Given the description of an element on the screen output the (x, y) to click on. 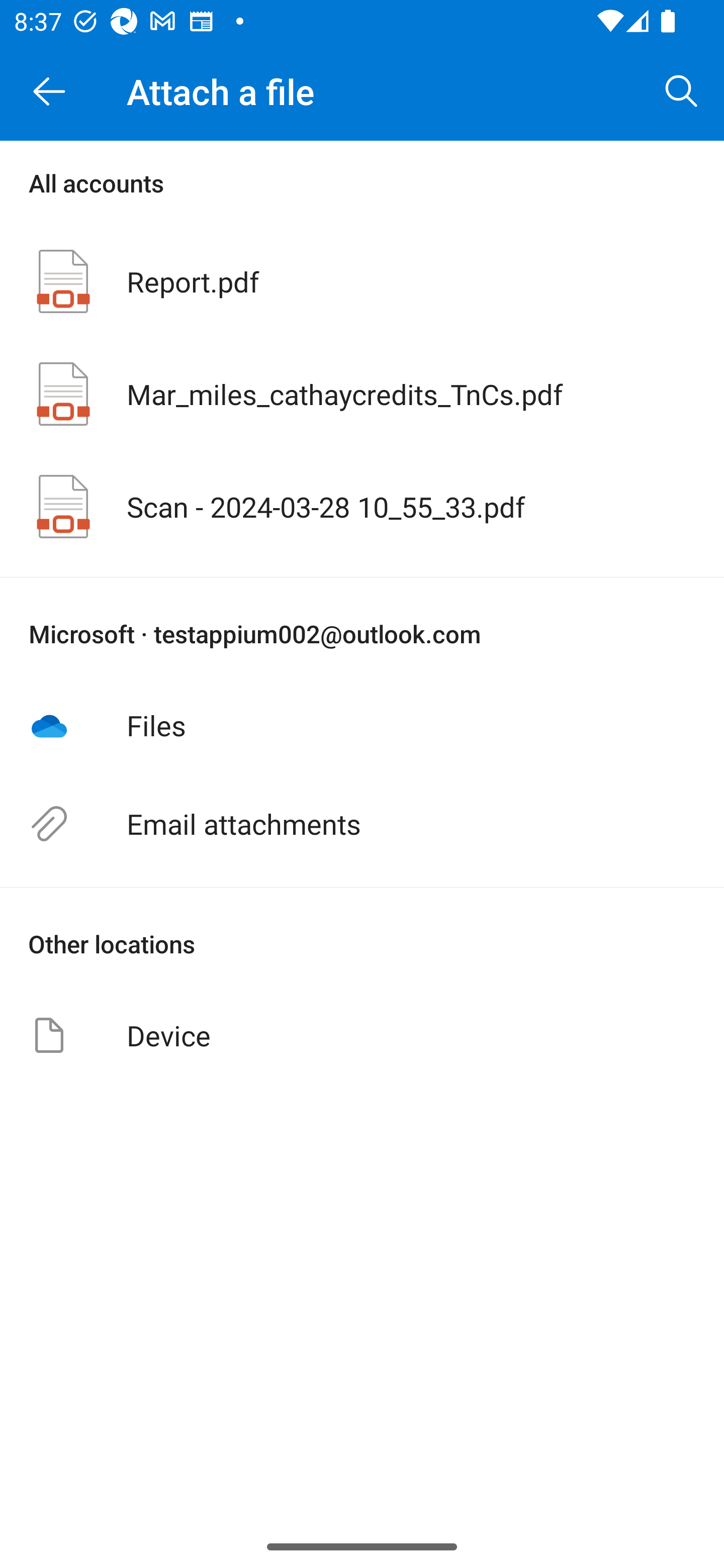
Navigate up (49, 91)
Search button (681, 90)
Report.pdf (362, 281)
Mar_miles_cathaycredits_TnCs.pdf (362, 393)
Scan - 2024-03-28 10_55_33.pdf (362, 506)
Files (362, 724)
Email attachments (362, 823)
Device (362, 1035)
